Given the description of an element on the screen output the (x, y) to click on. 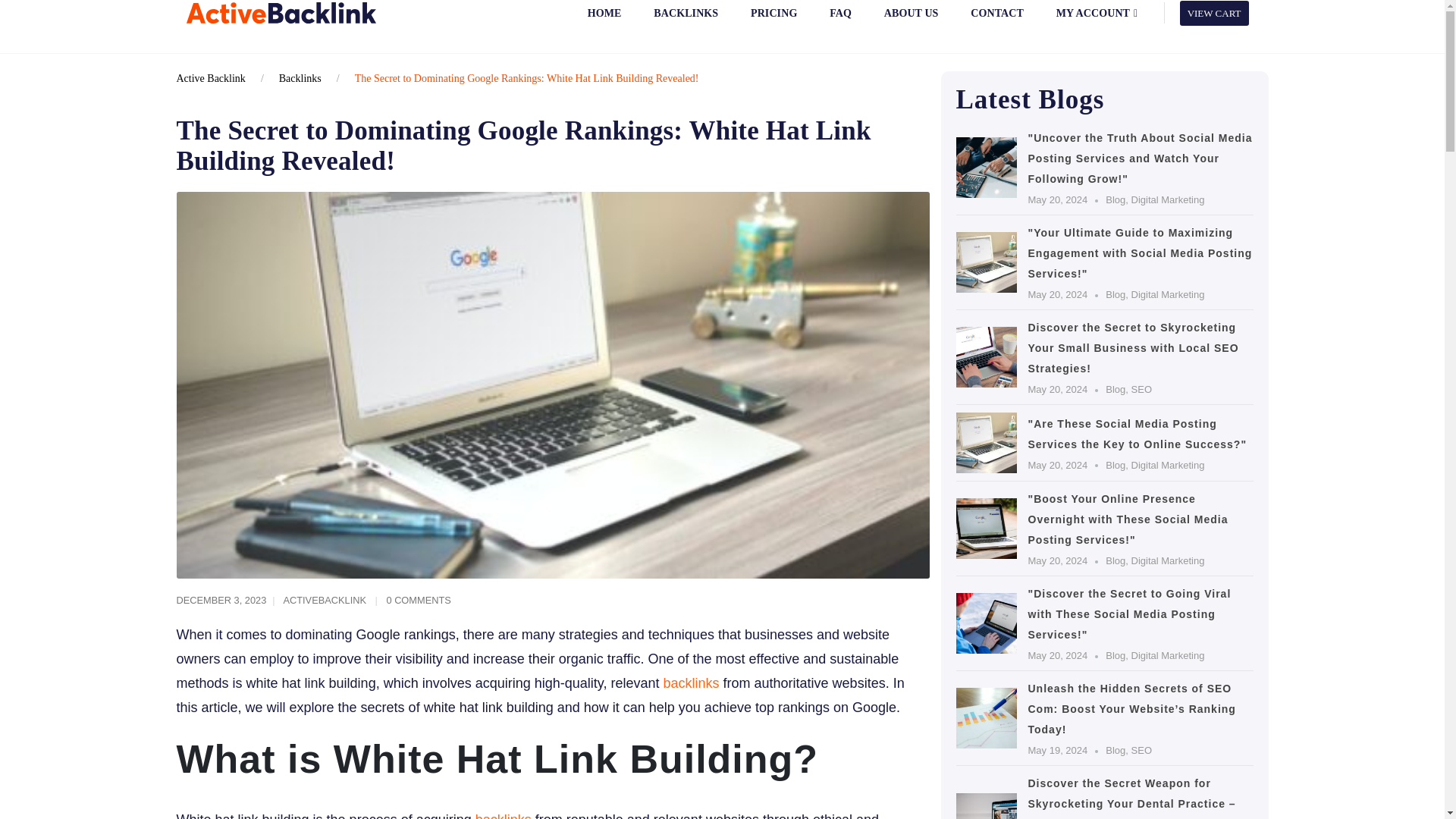
BACKLINKS (685, 20)
ABOUT US (910, 20)
HOME (603, 20)
Backlinks (300, 78)
ACTIVEBACKLINK (324, 600)
backlinks (503, 815)
0 COMMENTS (417, 600)
0 COMMENTS (417, 600)
